Given the description of an element on the screen output the (x, y) to click on. 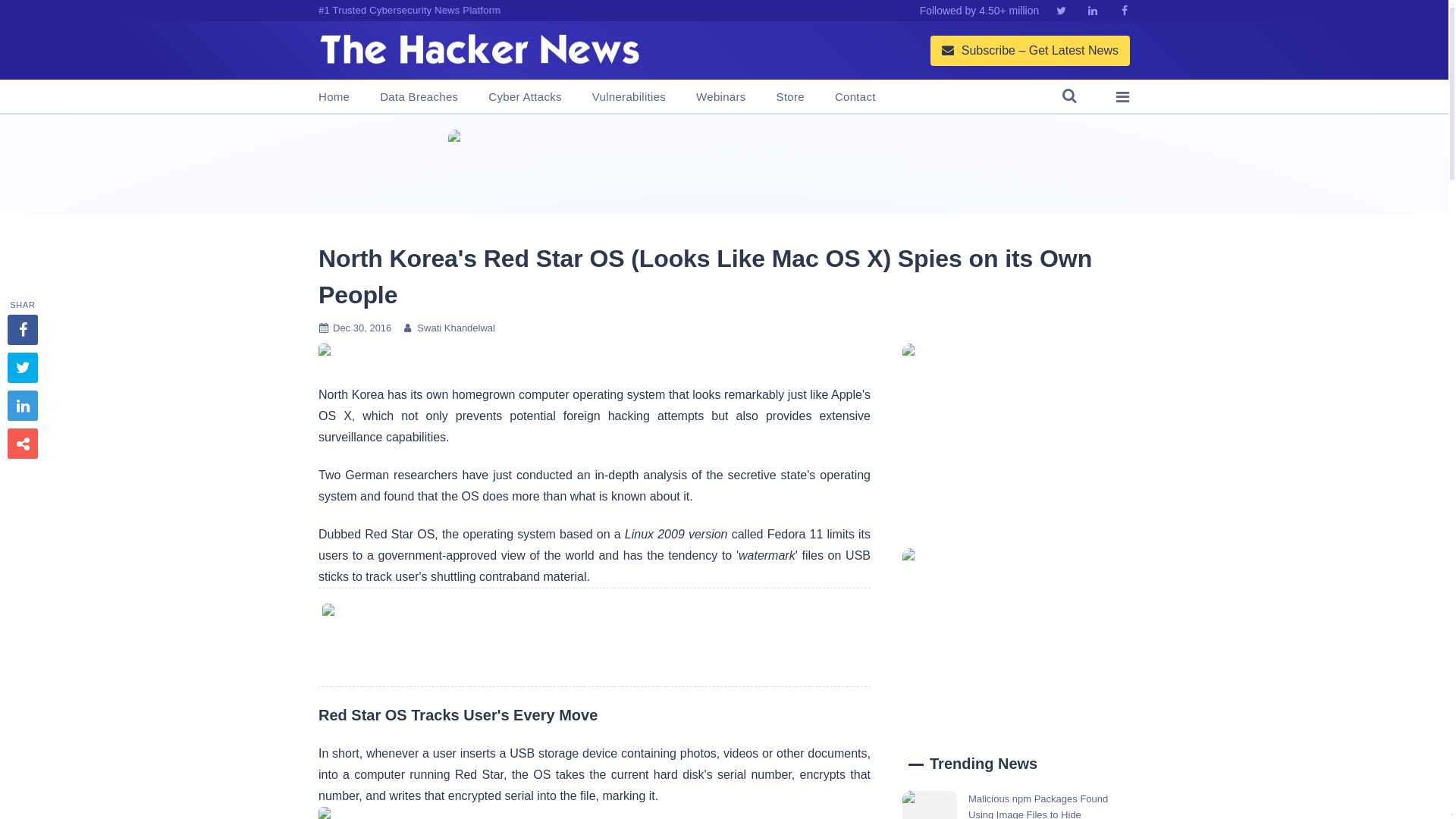
Home (333, 96)
Data Breaches (419, 96)
Contact (855, 96)
north-koria-Red-Star-computer (324, 812)
Cyber Attacks (523, 96)
Vulnerabilities (628, 96)
Cybersecurity (593, 636)
Insider Risk Management (723, 164)
Webinars (720, 96)
